Given the description of an element on the screen output the (x, y) to click on. 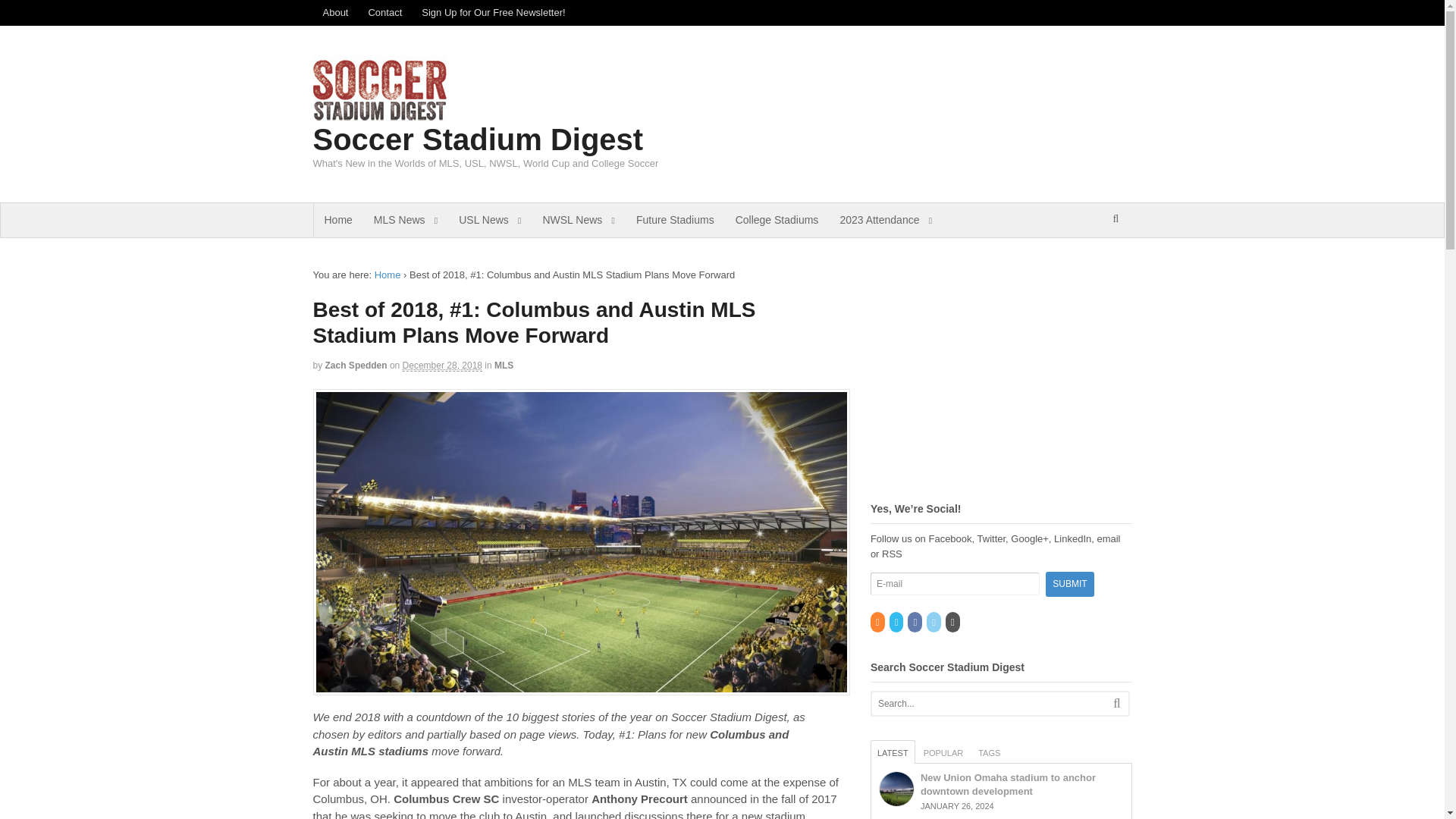
MLS News (405, 220)
2018-12-28T14:19:58-0600 (442, 365)
Contact (385, 12)
E-mail (954, 583)
Submit (1069, 584)
College Stadiums (777, 220)
About (335, 12)
Soccer Stadium Digest (478, 139)
Future Stadiums (675, 220)
LinkedIn (934, 622)
